Given the description of an element on the screen output the (x, y) to click on. 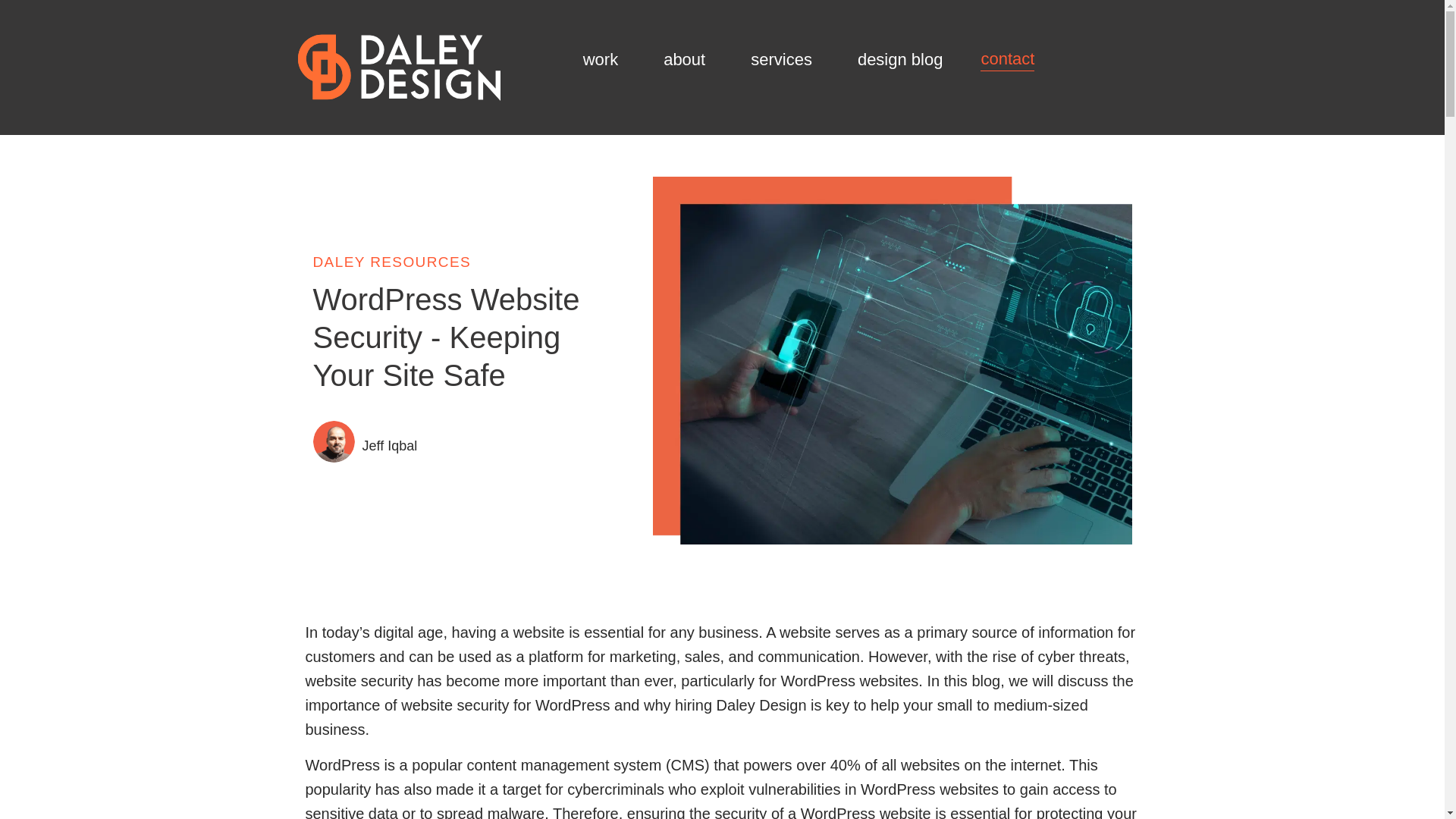
work (604, 59)
services (785, 59)
design blog (900, 59)
about (688, 59)
contact (1006, 59)
